Given the description of an element on the screen output the (x, y) to click on. 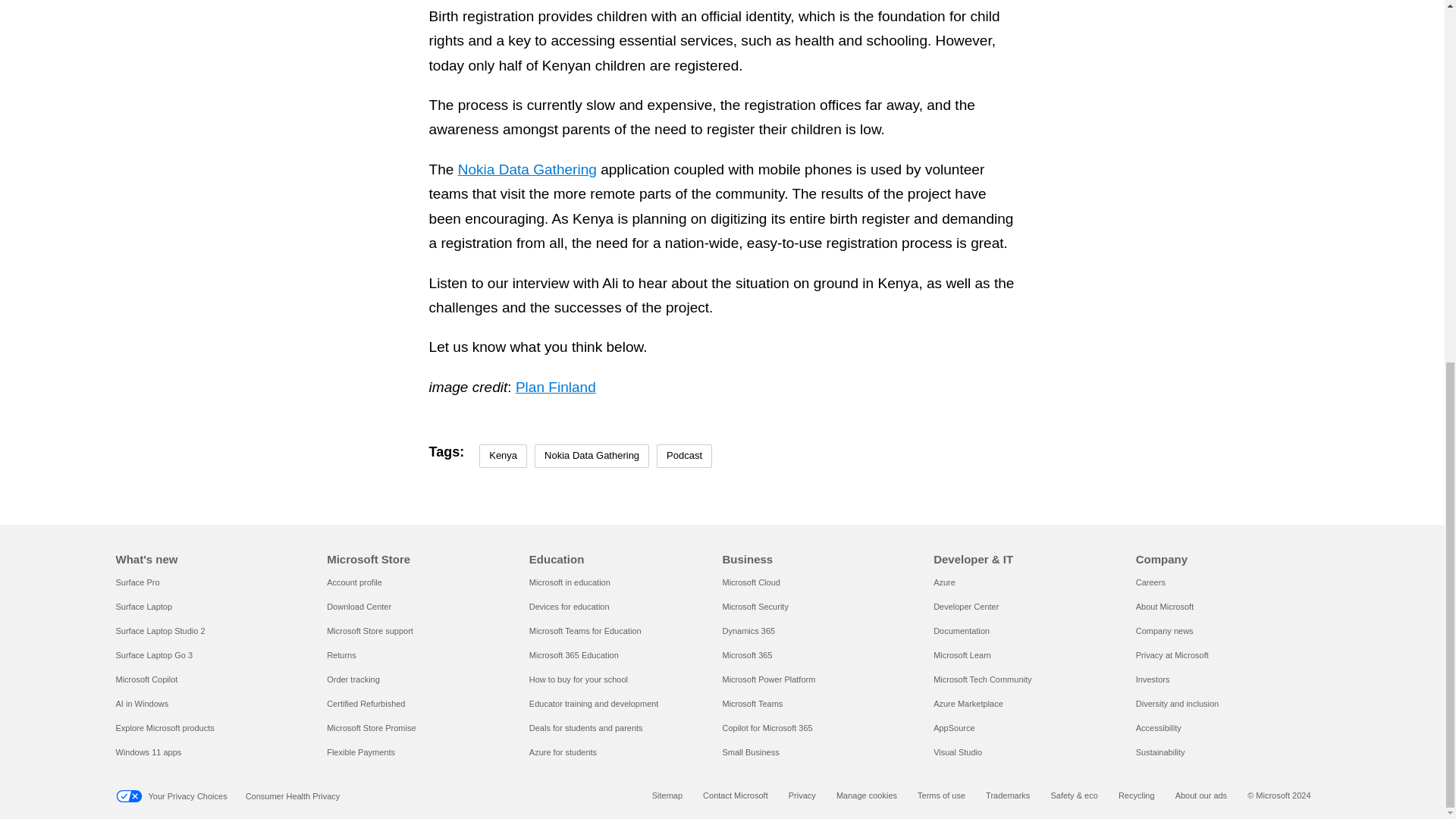
Podcast Tag (683, 455)
Kenya Tag (503, 455)
Nokia Data Gathering Tag (591, 455)
